Given the description of an element on the screen output the (x, y) to click on. 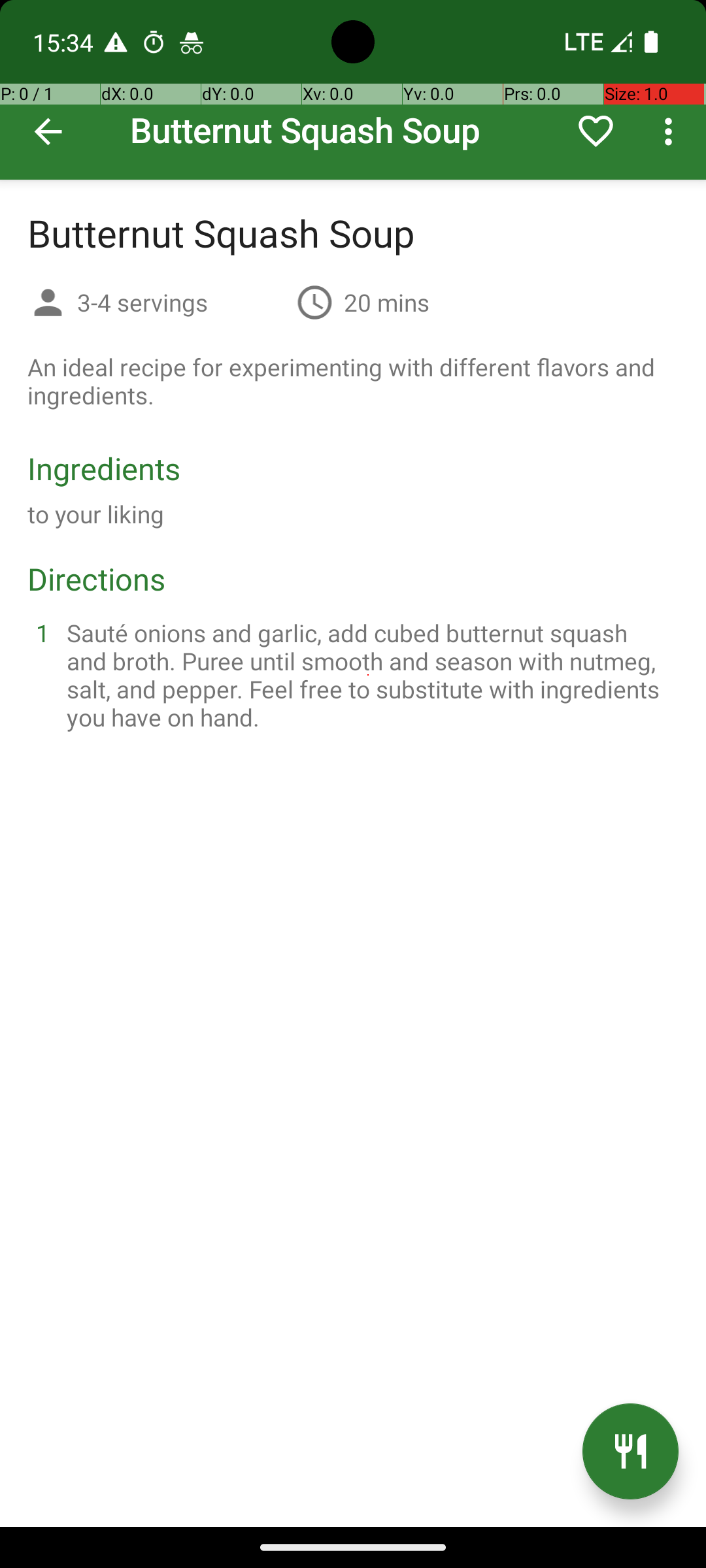
3-4 servings Element type: android.widget.TextView (181, 301)
20 mins Element type: android.widget.TextView (386, 301)
to your liking Element type: android.widget.TextView (95, 513)
Sauté onions and garlic, add cubed butternut squash and broth. Puree until smooth and season with nutmeg, salt, and pepper. Feel free to substitute with ingredients you have on hand. Element type: android.widget.TextView (368, 674)
